Given the description of an element on the screen output the (x, y) to click on. 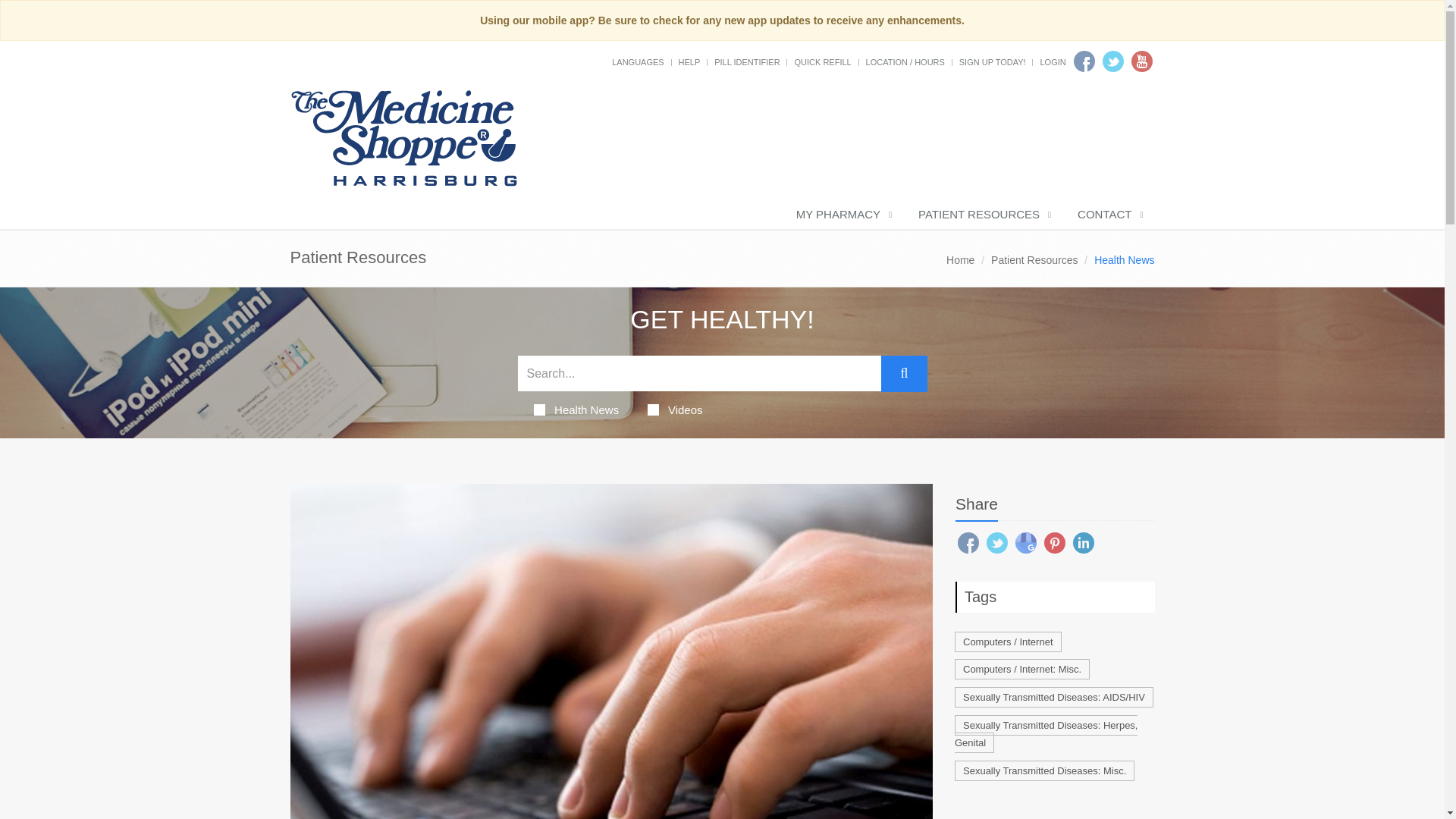
HELP (689, 61)
PILL IDENTIFIER (746, 61)
CONTACT (1108, 214)
SIGN UP TODAY! (992, 61)
LANGUAGES (637, 61)
Home (960, 259)
QUICK REFILL (821, 61)
LOGIN (1052, 61)
PATIENT RESOURCES (982, 214)
MY PHARMACY (841, 214)
